Given the description of an element on the screen output the (x, y) to click on. 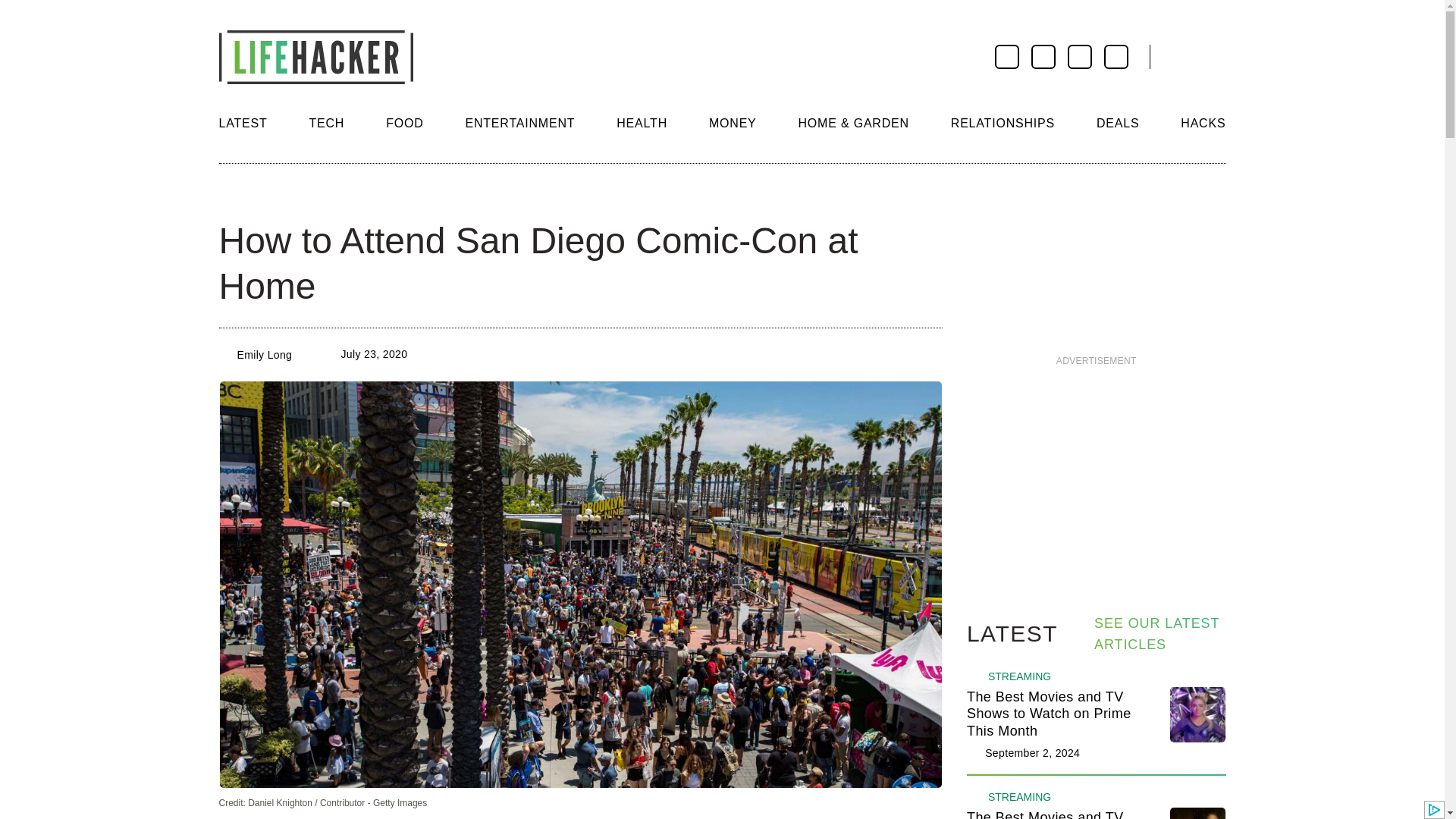
ENTERTAINMENT (519, 123)
Social Share (232, 193)
RELATIONSHIPS (1002, 123)
HEALTH (640, 123)
HACKS (1202, 123)
TECH (325, 123)
LATEST (242, 123)
DEALS (1117, 123)
FOOD (404, 123)
Emily Long (263, 354)
